Given the description of an element on the screen output the (x, y) to click on. 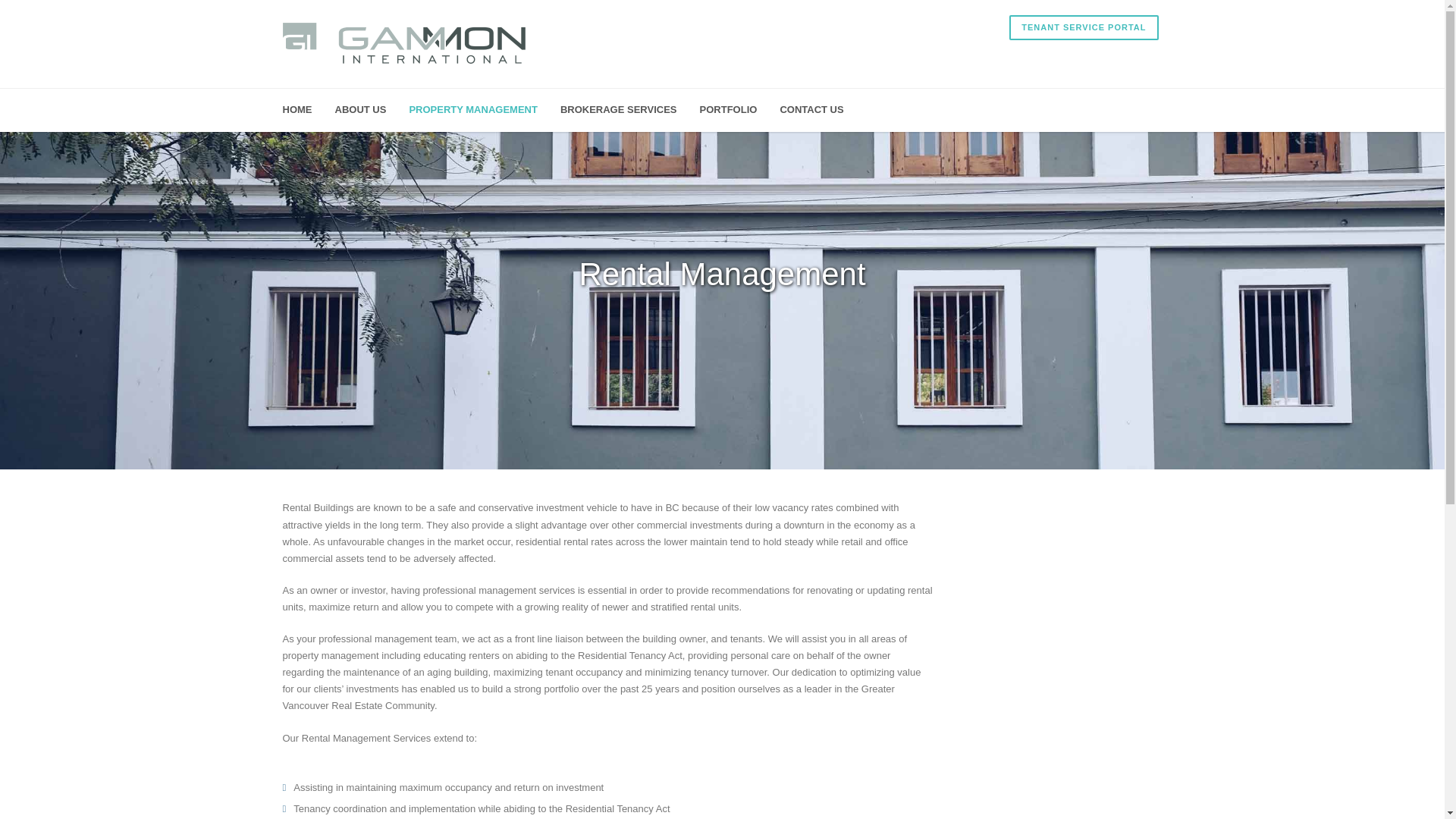
CONTACT US (822, 109)
TENANT SERVICE PORTAL (1083, 27)
HOME (308, 109)
PORTFOLIO (740, 109)
BROKERAGE SERVICES (630, 109)
ABOUT US (371, 109)
PROPERTY MANAGEMENT (484, 109)
